Given the description of an element on the screen output the (x, y) to click on. 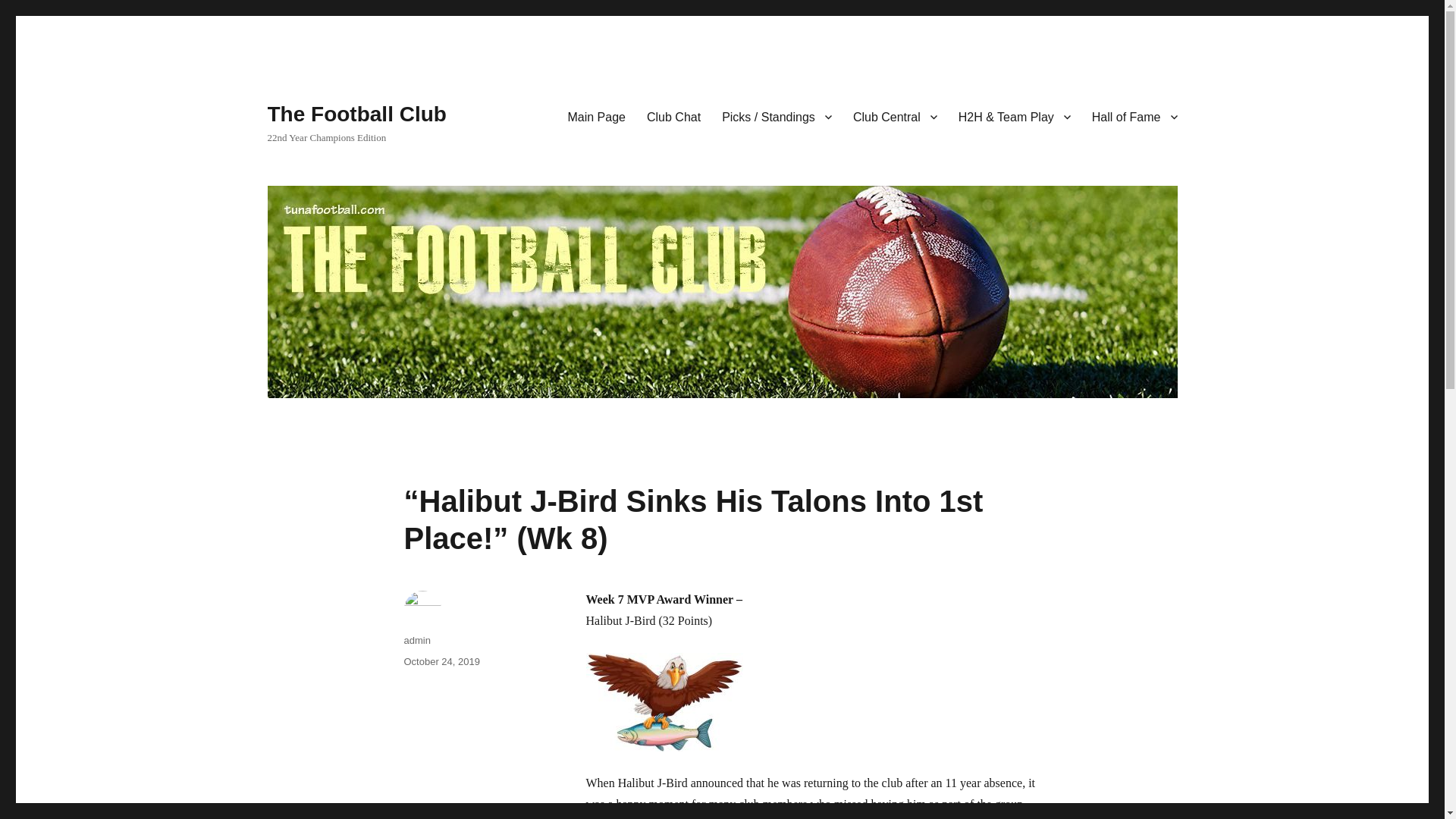
October 24, 2019 (441, 661)
Hall of Fame (1134, 116)
Club Chat (673, 116)
Club Central (895, 116)
admin (416, 640)
Main Page (596, 116)
The Football Club (355, 114)
